Given the description of an element on the screen output the (x, y) to click on. 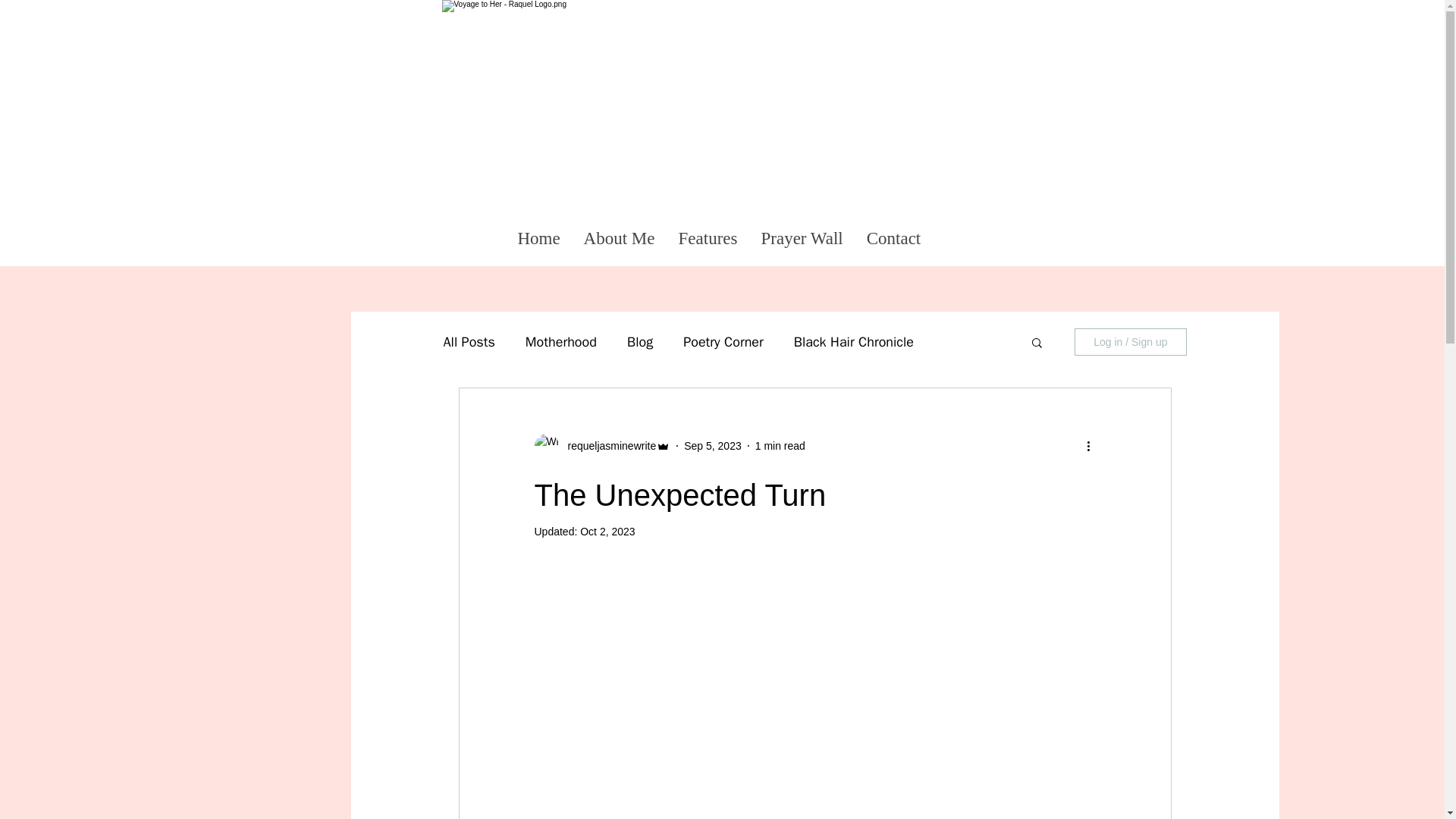
requeljasminewrite (606, 446)
Features (706, 238)
Contact (892, 238)
1 min read (780, 445)
Motherhood (560, 341)
Poetry Corner (722, 341)
All Posts (468, 341)
Sep 5, 2023 (712, 445)
About Me (619, 238)
Blog (639, 341)
Black Hair Chronicle (853, 341)
Home (537, 238)
Oct 2, 2023 (606, 531)
Prayer Wall (801, 238)
